Given the description of an element on the screen output the (x, y) to click on. 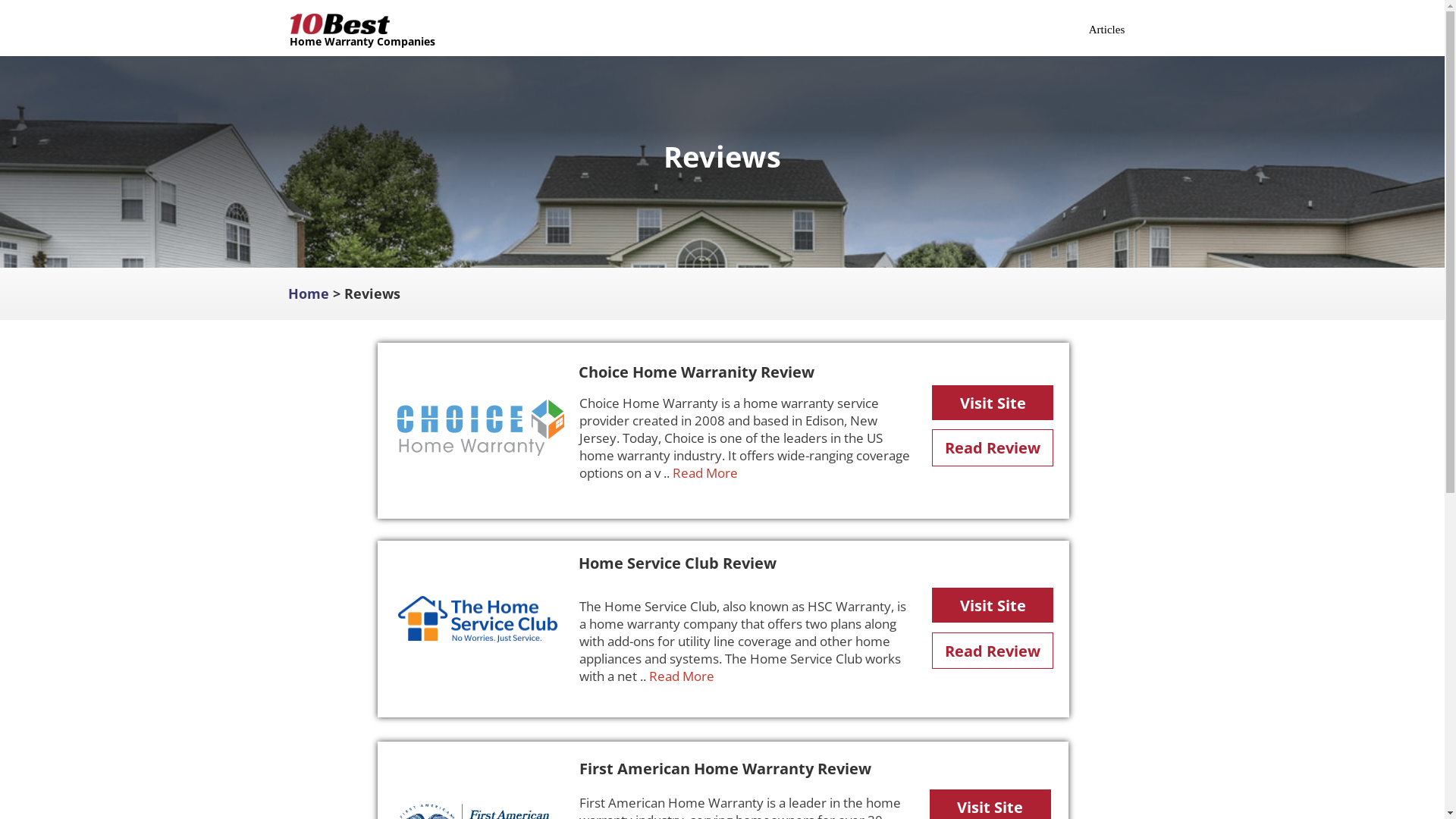
Visit Site Element type: text (992, 402)
Read Review Element type: text (992, 447)
Read More  Element type: text (683, 675)
Read More  Element type: text (706, 472)
Visit Site Element type: text (992, 604)
Home Warranty Companies Element type: text (362, 41)
Articles Element type: text (1106, 29)
Read Review Element type: text (992, 650)
